Given the description of an element on the screen output the (x, y) to click on. 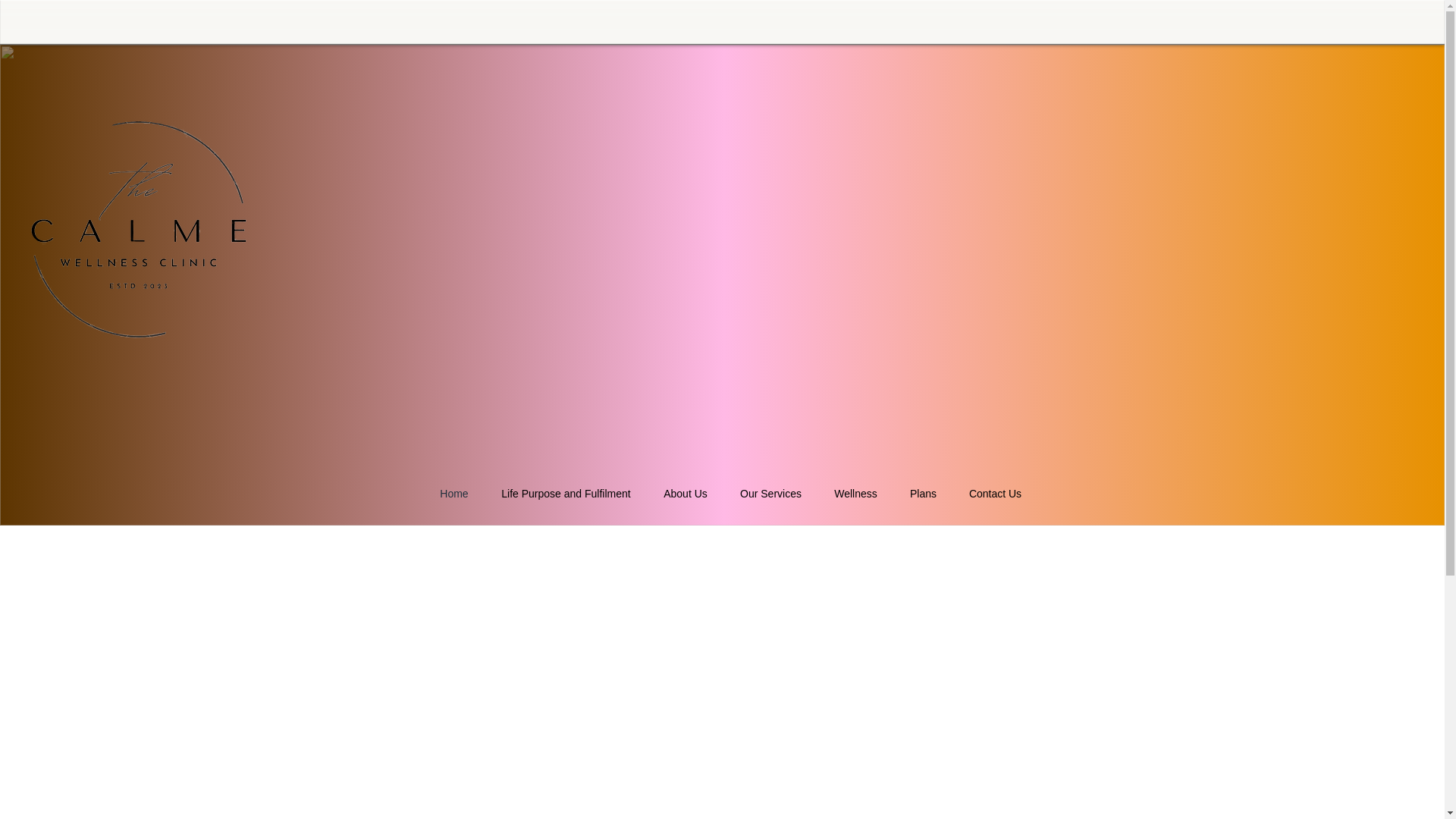
Our Services (769, 493)
About Us (685, 493)
Home (453, 493)
Life Purpose and Fulfilment (565, 493)
Contact Us (994, 493)
Plans (922, 493)
Wellness (854, 493)
